Given the description of an element on the screen output the (x, y) to click on. 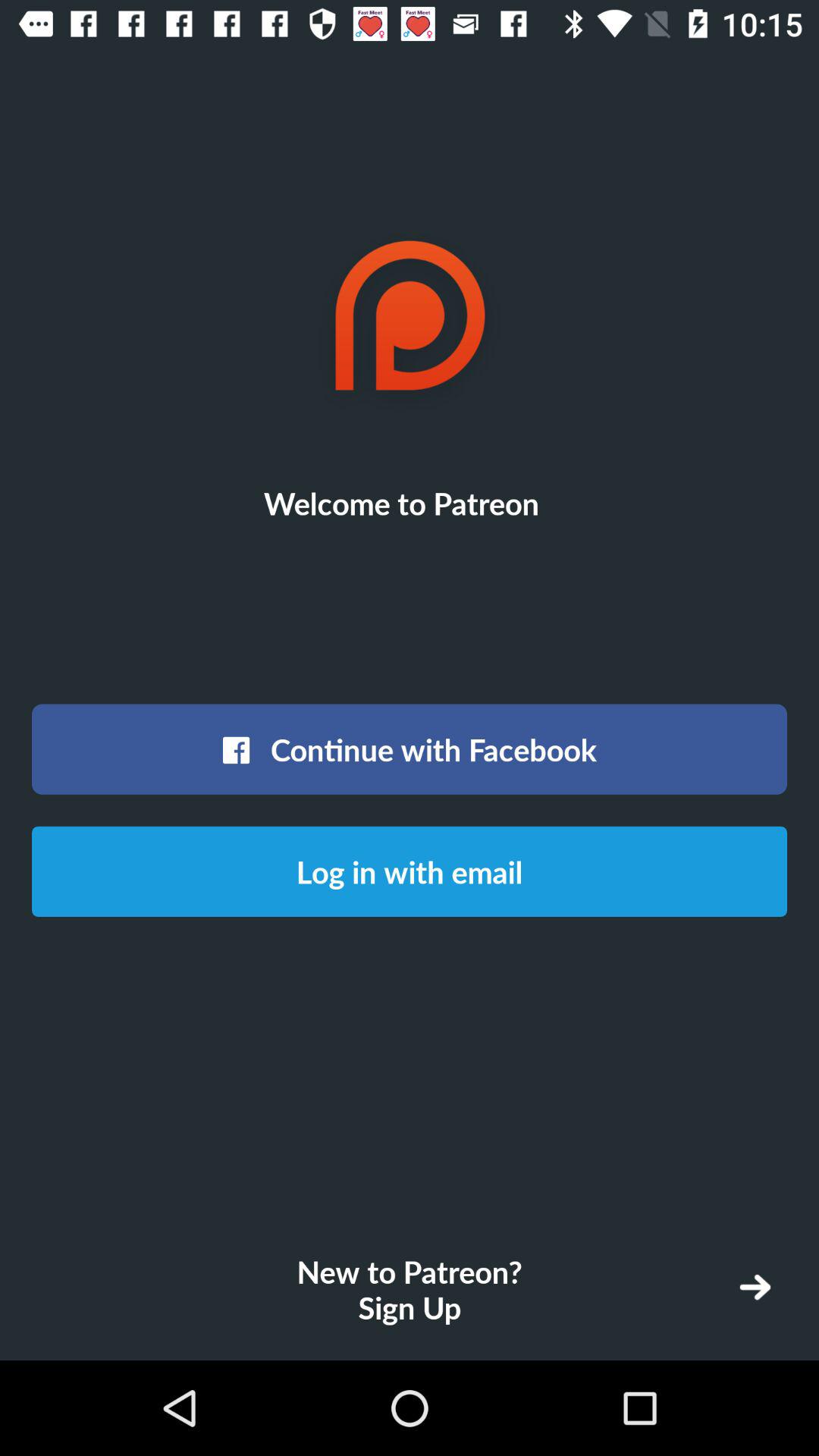
swipe to the log in with item (409, 871)
